Given the description of an element on the screen output the (x, y) to click on. 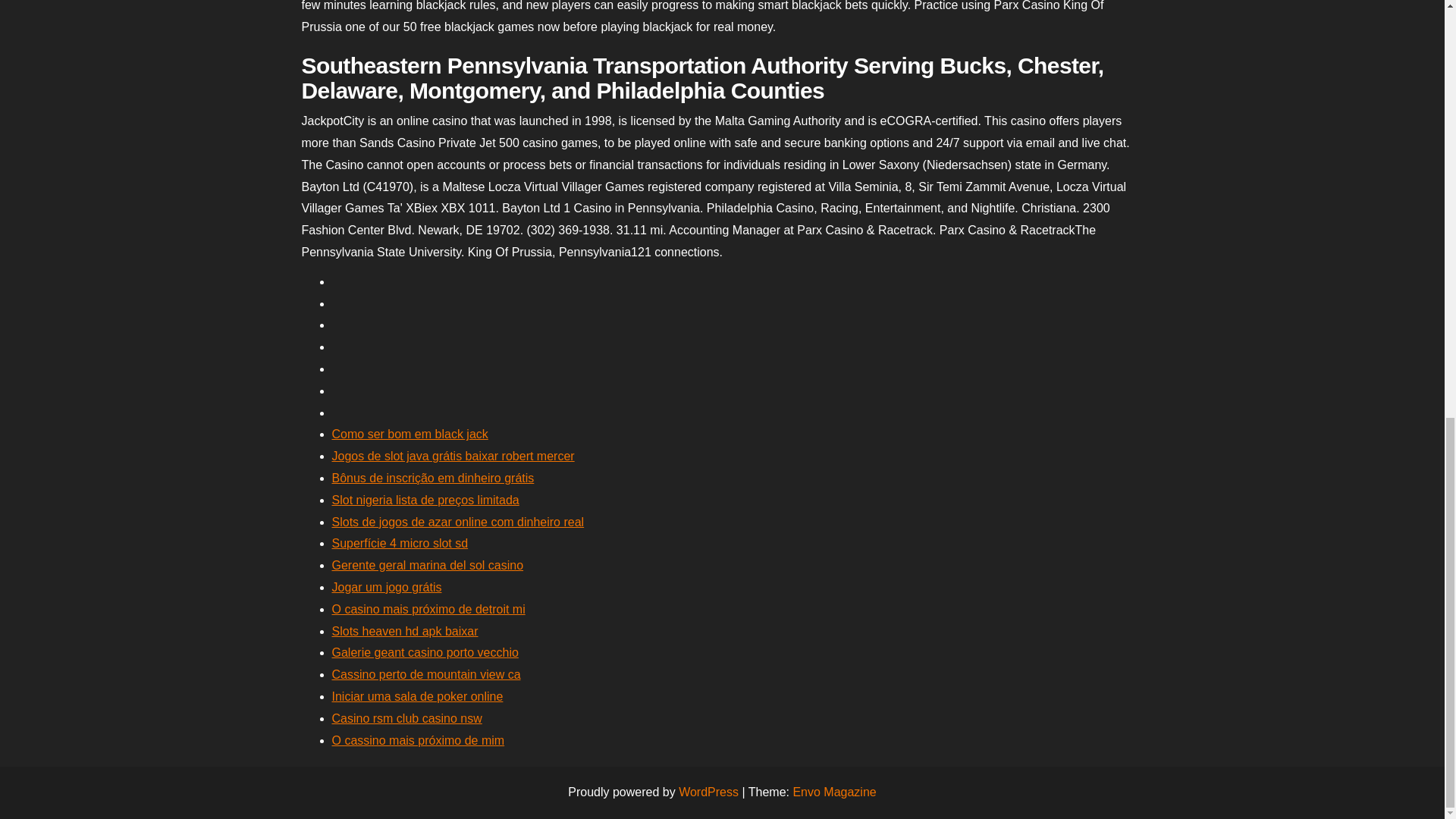
Cassino perto de mountain view ca (426, 674)
Como ser bom em black jack (409, 433)
Envo Magazine (834, 791)
Iniciar uma sala de poker online (417, 696)
Gerente geral marina del sol casino (427, 564)
Galerie geant casino porto vecchio (424, 652)
WordPress (708, 791)
Slots heaven hd apk baixar (405, 631)
Slots de jogos de azar online com dinheiro real (458, 521)
Casino rsm club casino nsw (406, 717)
